Given the description of an element on the screen output the (x, y) to click on. 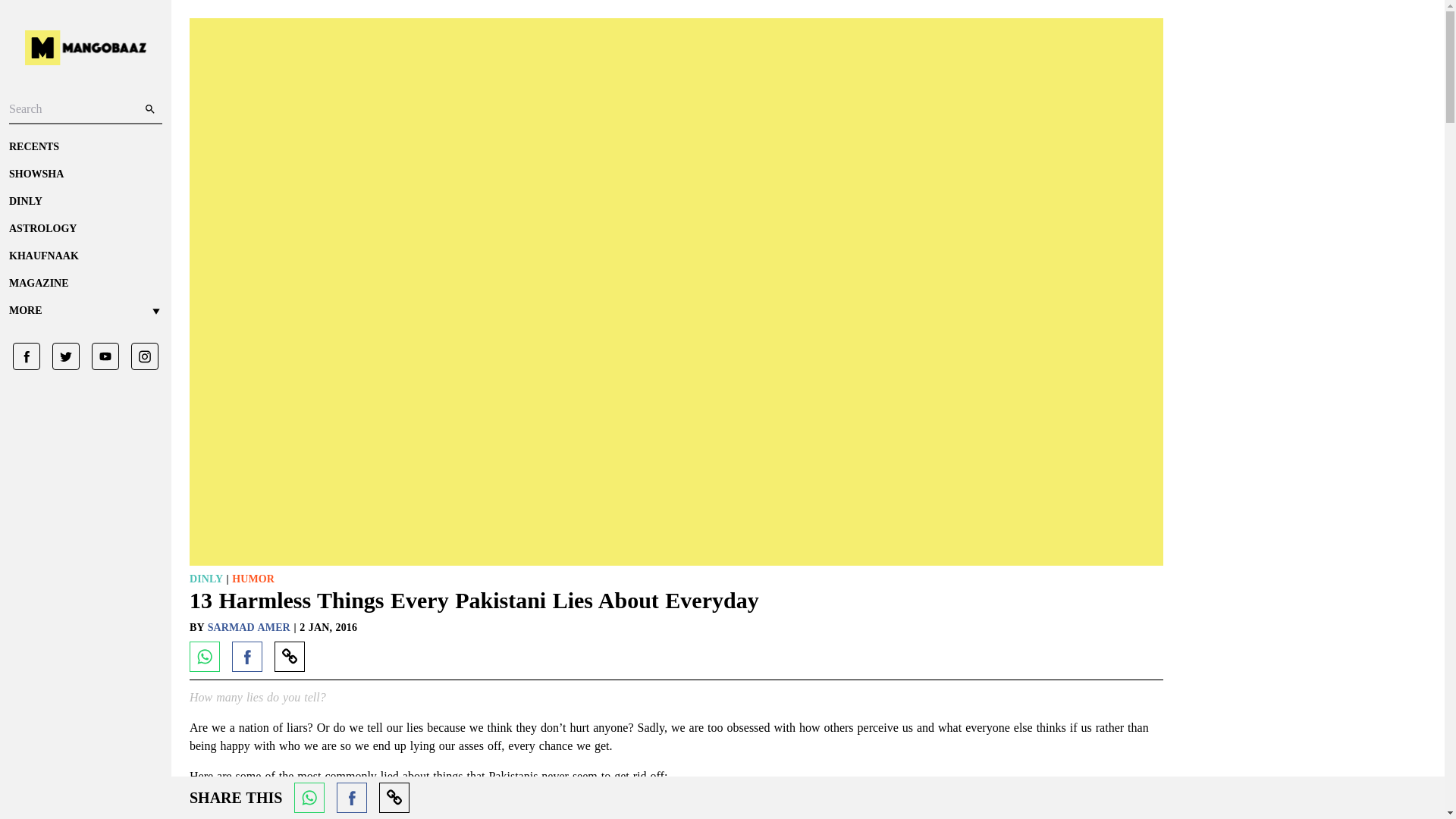
SHOWSHA (84, 174)
MORE (84, 310)
Facebook (246, 656)
Whatsapp (309, 797)
KHAUFNAAK (84, 256)
Copy URL (289, 656)
Copy URL (393, 797)
HUMOR (253, 578)
Link to Instagram (138, 356)
MAGAZINE (84, 283)
Link to Facebook (26, 356)
DINLY (84, 201)
SARMAD AMER (251, 627)
Link to Youtube (99, 356)
Facebook (351, 797)
